Given the description of an element on the screen output the (x, y) to click on. 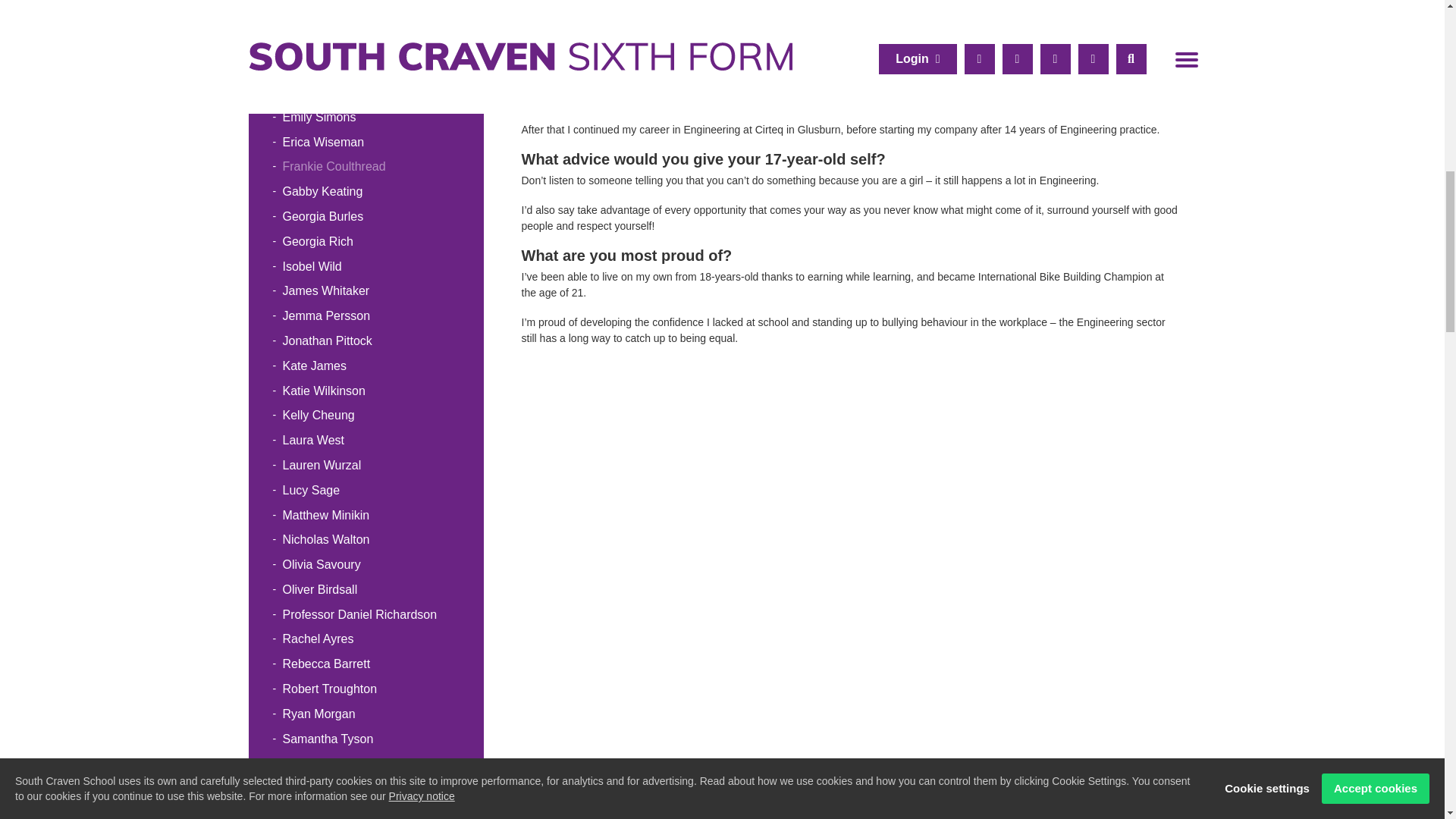
Erica Wiseman (365, 142)
Emily Simons (365, 117)
Chloe Ward (365, 18)
Gabby Keating (365, 191)
Frankie Coulthread (365, 166)
Chloe Butlin (365, 2)
Isobel Wild (365, 267)
David Longbotham (365, 67)
Emily Bielby (365, 92)
Georgia Burles (365, 217)
James Whitaker (365, 291)
Courtney Baker (365, 42)
Georgia Rich (365, 242)
